Given the description of an element on the screen output the (x, y) to click on. 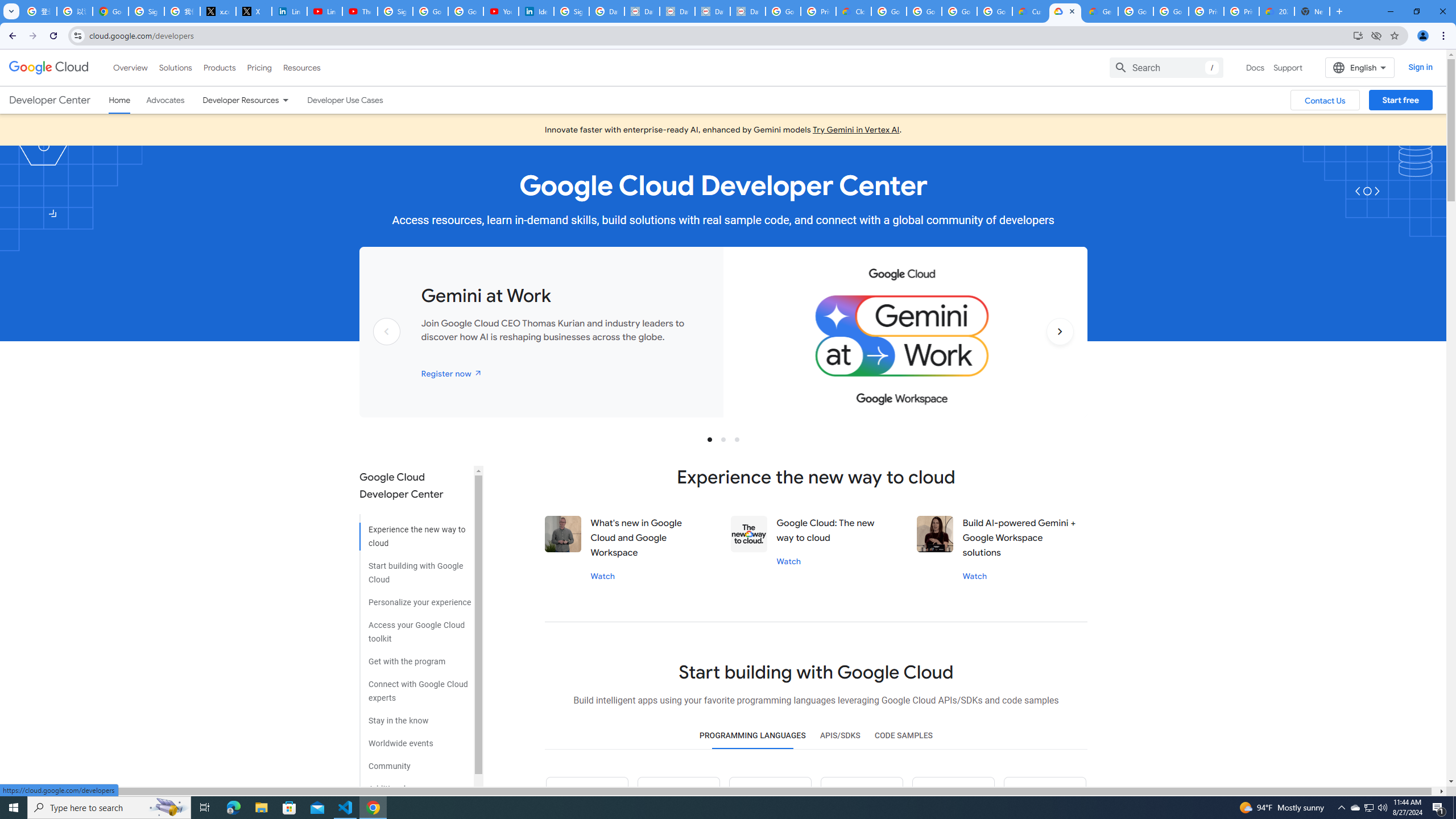
English (1359, 67)
Products (218, 67)
Data Privacy Framework (641, 11)
Slide 2 (722, 438)
Worldwide events (415, 739)
Stay in the know (415, 716)
Additional resources (415, 784)
Get with the program (415, 657)
